Given the description of an element on the screen output the (x, y) to click on. 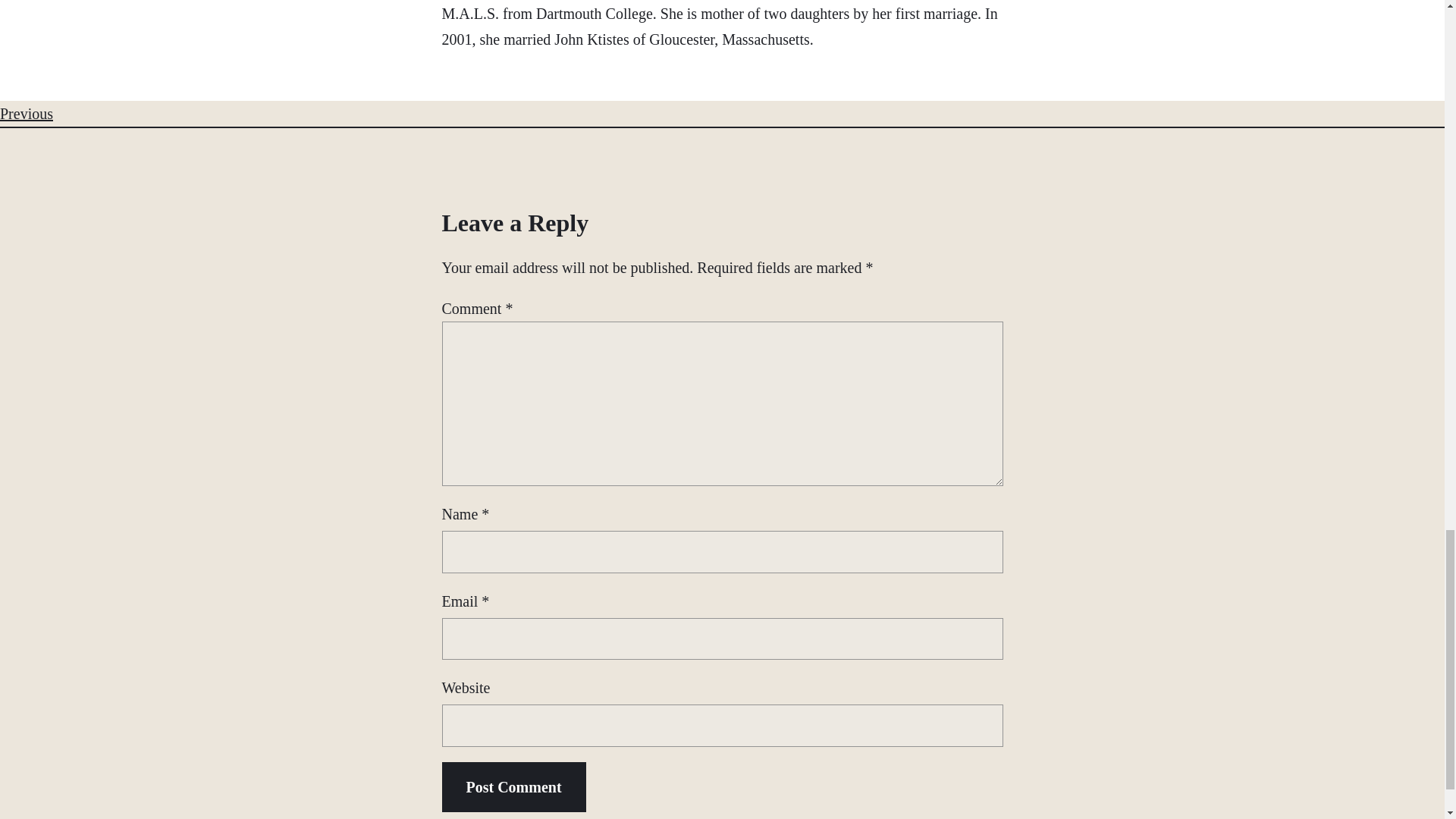
Previous (26, 113)
Post Comment (513, 787)
Post Comment (513, 787)
